Given the description of an element on the screen output the (x, y) to click on. 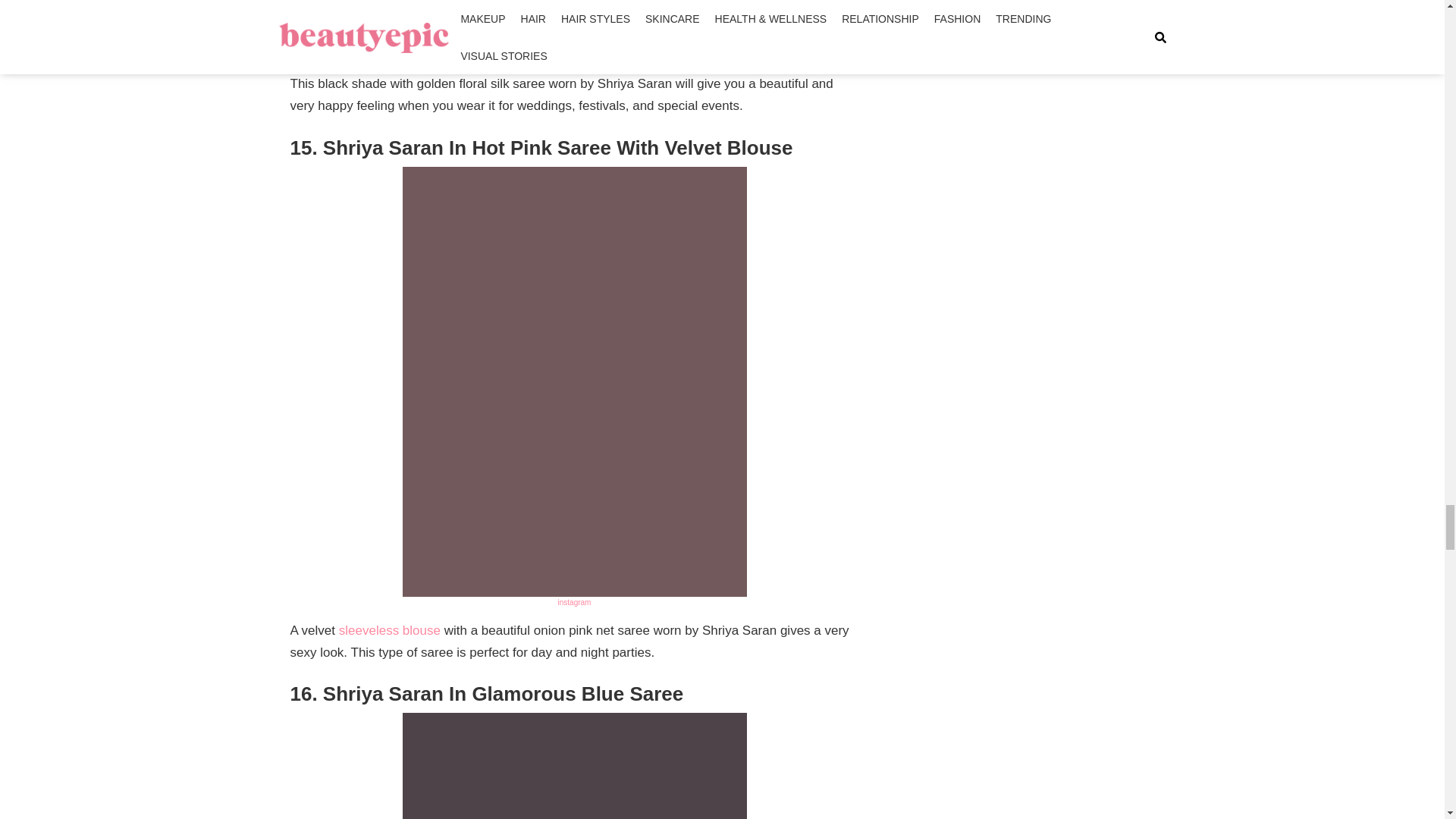
sleeveless blouse (390, 630)
